Given the description of an element on the screen output the (x, y) to click on. 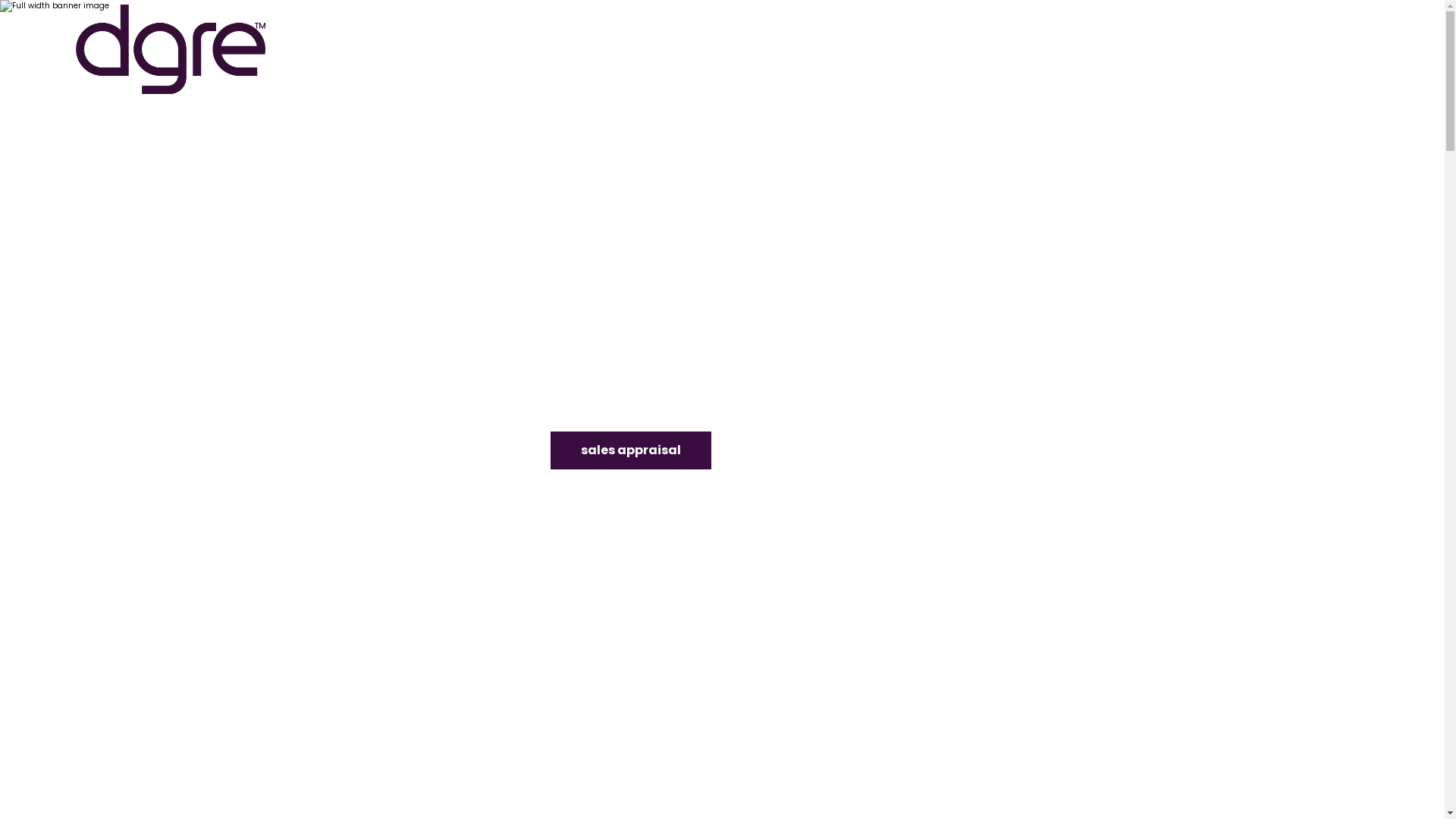
sales appraisal Element type: text (630, 450)
rental appraisal Element type: text (808, 450)
08 9336 1166 Element type: text (1274, 49)
rental appraisal Element type: text (808, 450)
sales appraisal Element type: text (631, 450)
